Given the description of an element on the screen output the (x, y) to click on. 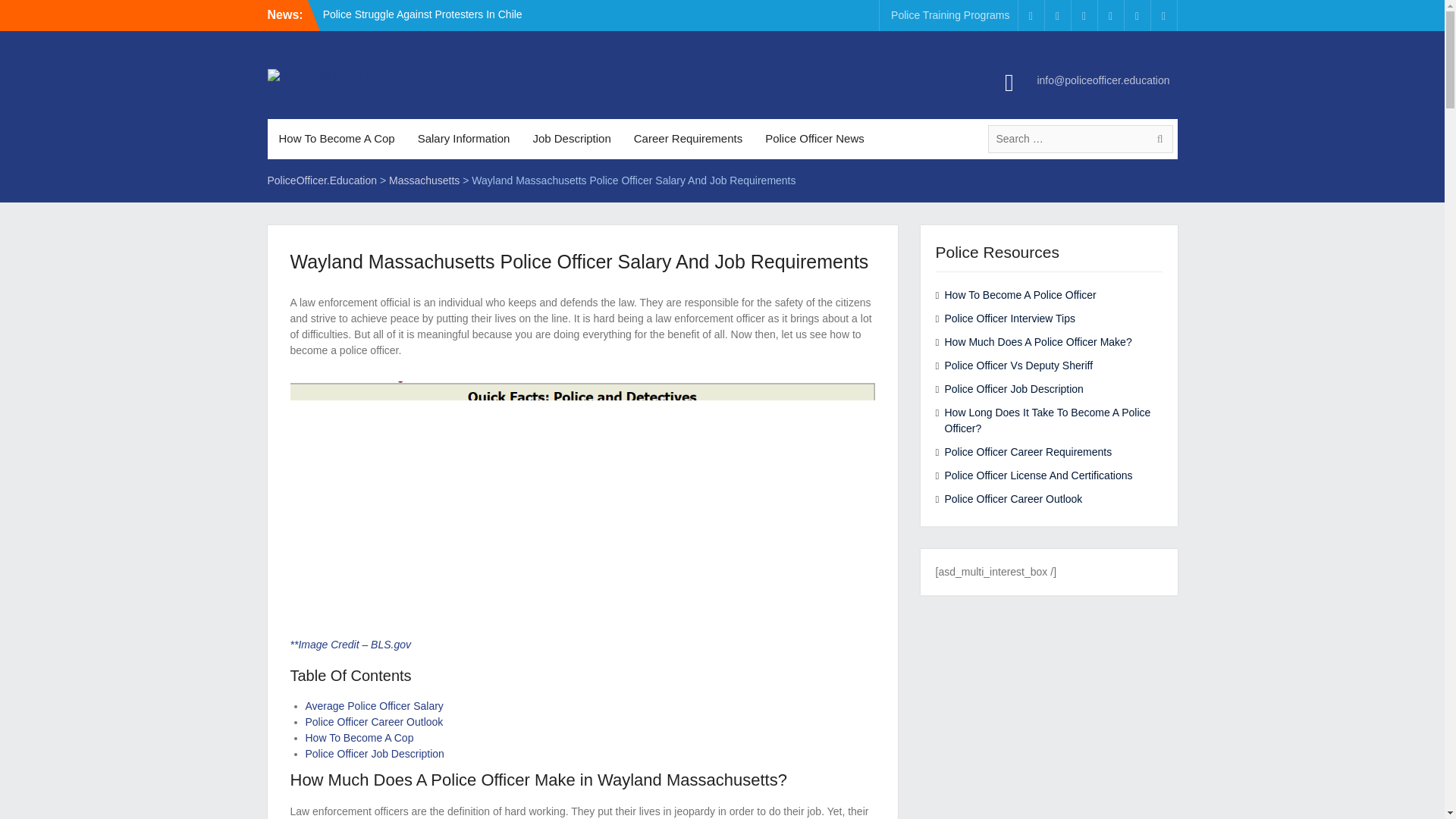
How To Become A Cop (336, 138)
How To Become A Cop (358, 737)
Police Training Programs (949, 15)
Career Requirements (688, 138)
Job Description (571, 138)
Salary Information (463, 138)
Police Struggle Against Protesters In Chile (422, 14)
PoliceOfficer.Education (321, 180)
Go to PoliceOfficer.Education. (321, 180)
Go to the Massachusetts State Career archives. (424, 180)
